Given the description of an element on the screen output the (x, y) to click on. 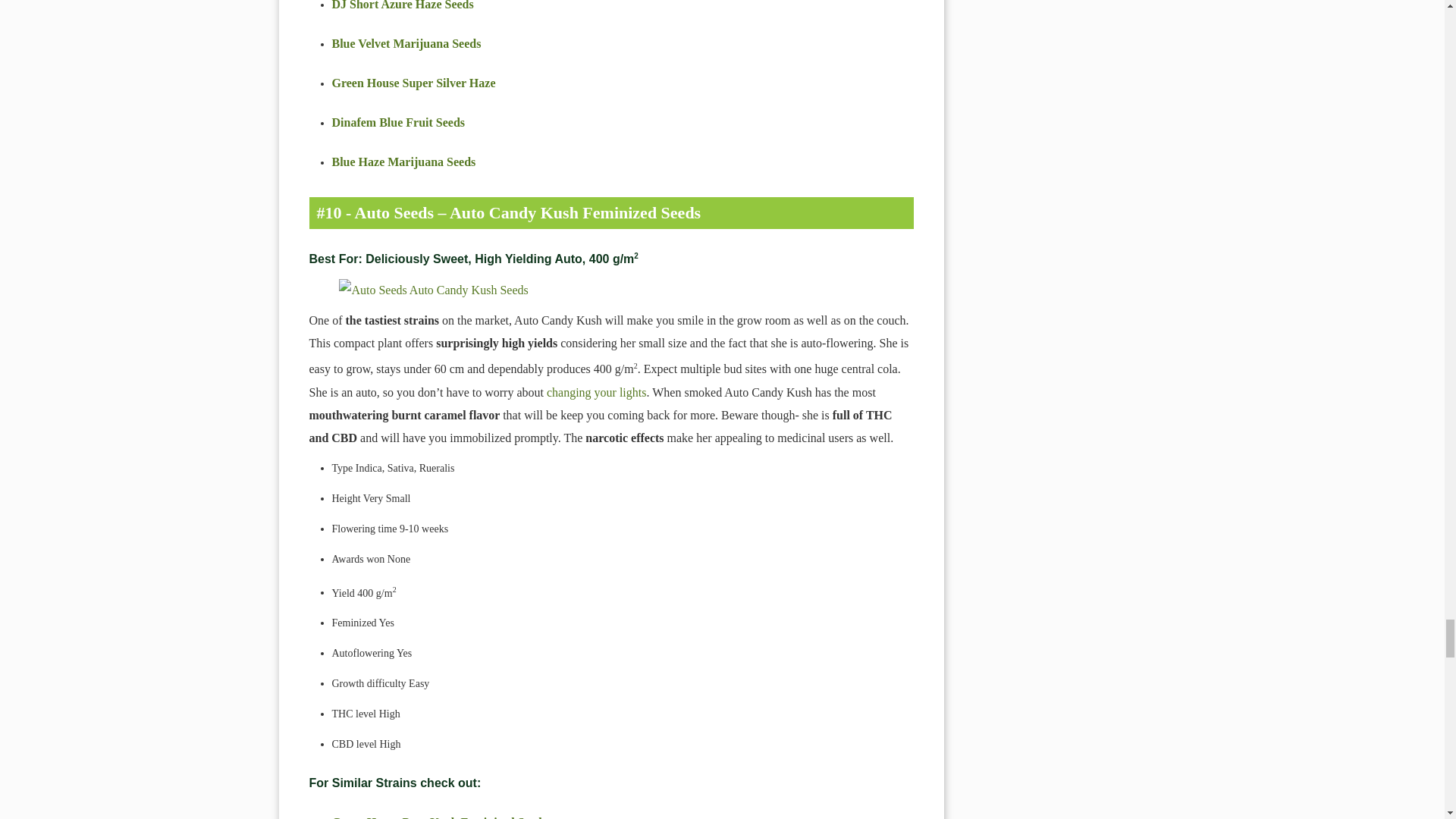
Auto Seeds Auto Candy Kush Seeds (611, 290)
